Given the description of an element on the screen output the (x, y) to click on. 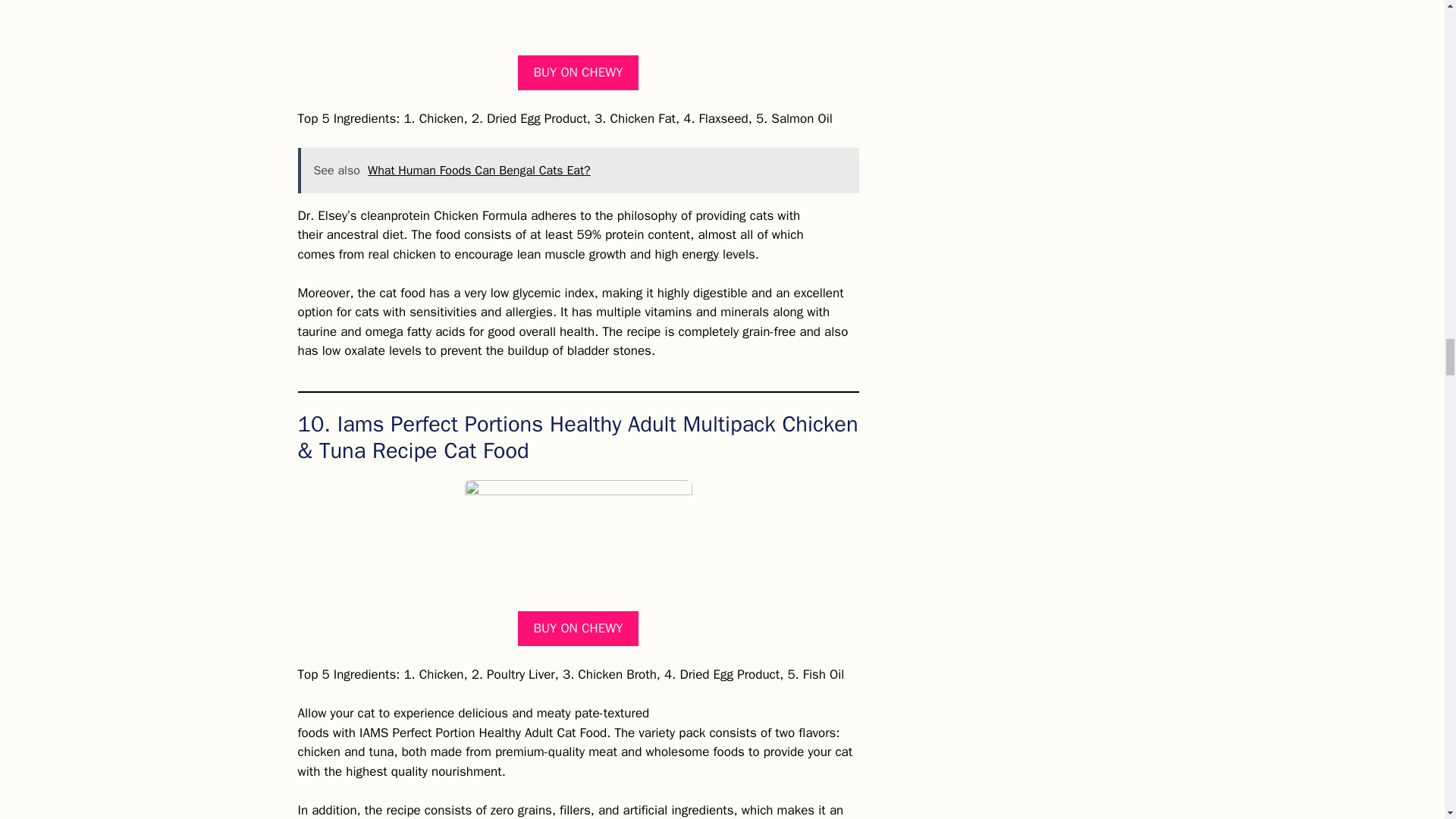
BUY ON CHEWY (577, 628)
See also  What Human Foods Can Bengal Cats Eat? (578, 170)
BUY ON CHEWY (577, 72)
